Given the description of an element on the screen output the (x, y) to click on. 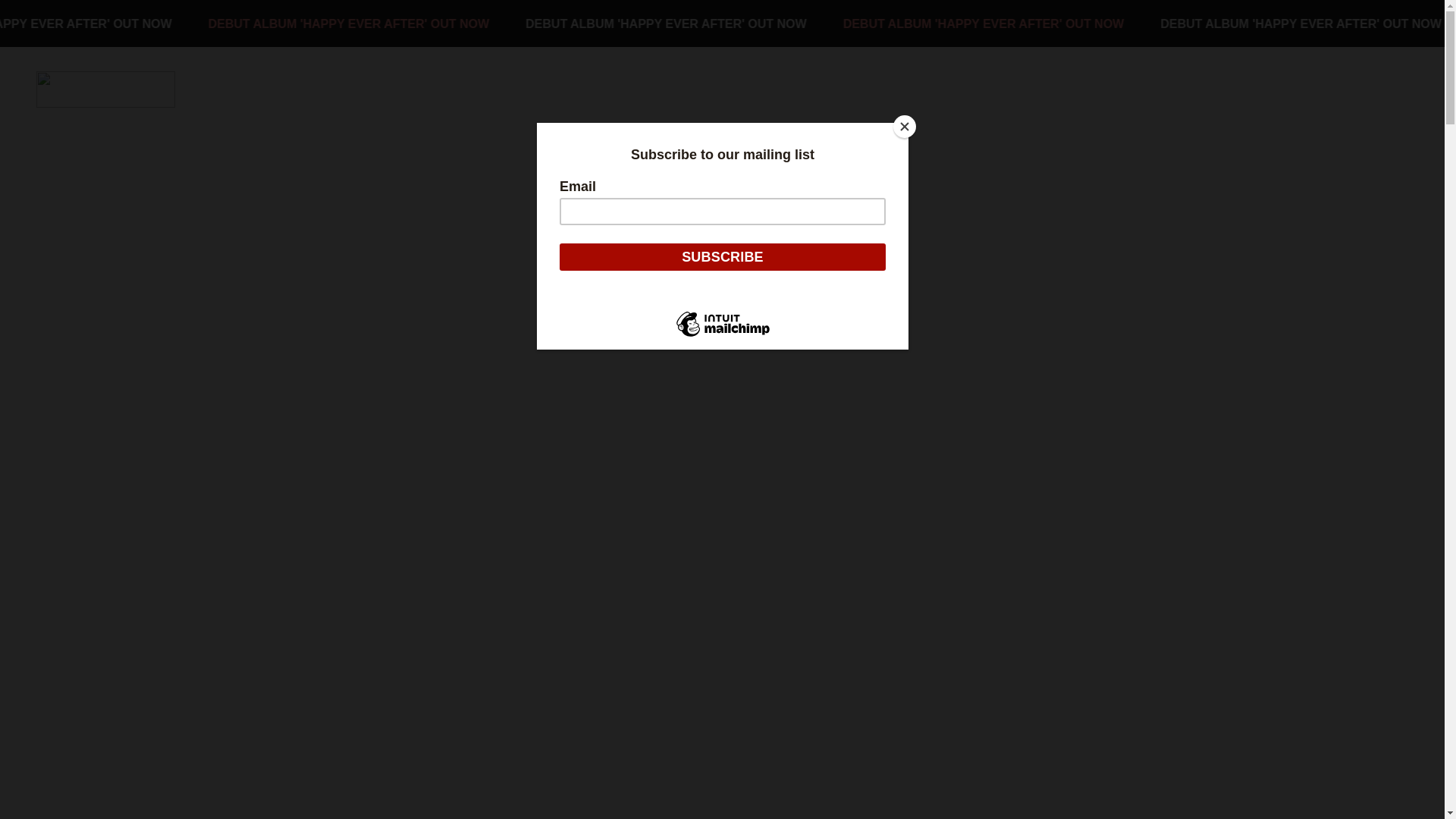
CONTACT Element type: text (487, 89)
ABOUT Element type: text (423, 89)
MUSIC Element type: text (209, 89)
MERCH Element type: text (367, 89)
TOUR Element type: text (316, 89)
VIDEOS Element type: text (264, 89)
